Given the description of an element on the screen output the (x, y) to click on. 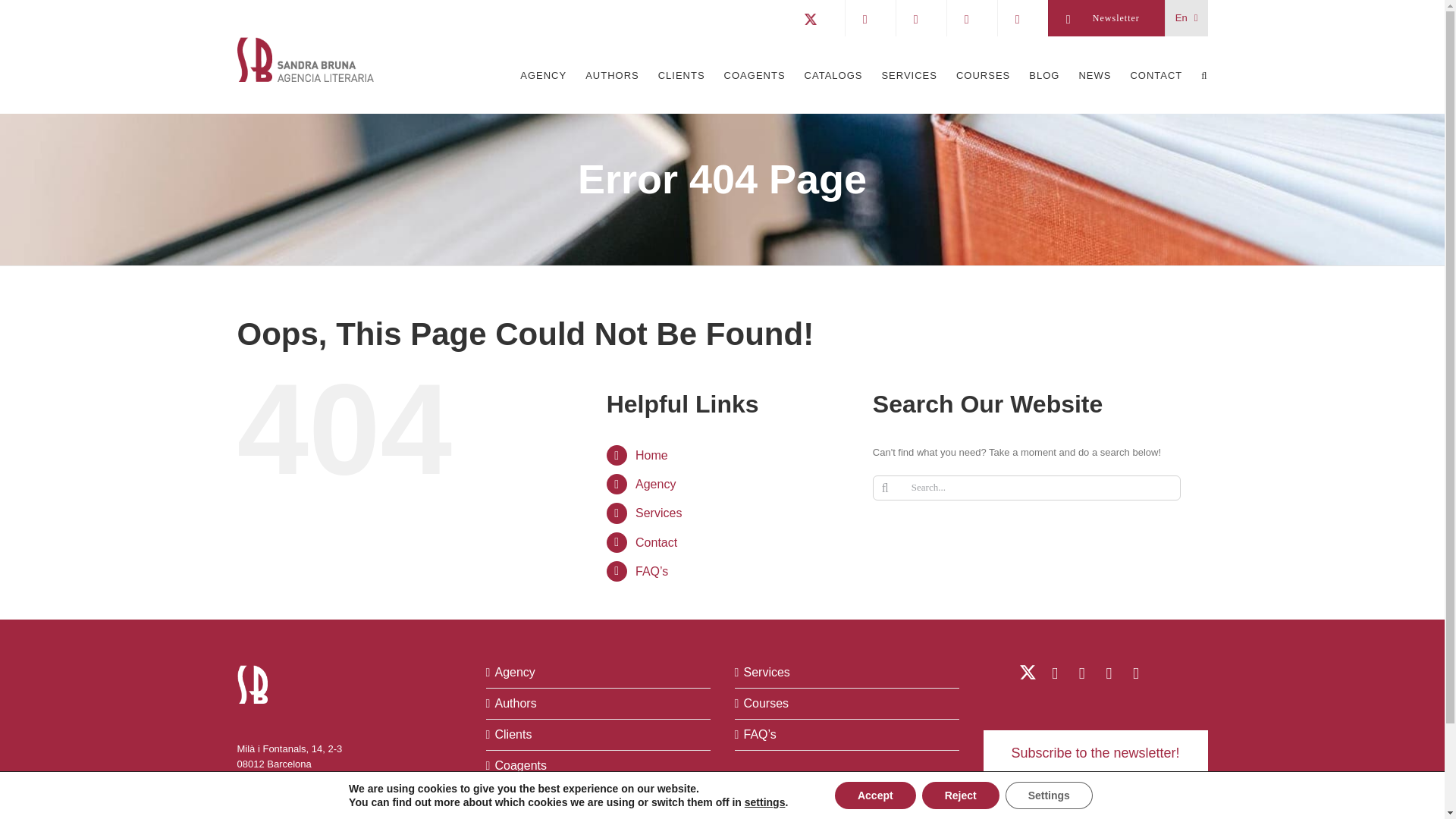
En (1187, 18)
Newsletter (1106, 18)
